Given the description of an element on the screen output the (x, y) to click on. 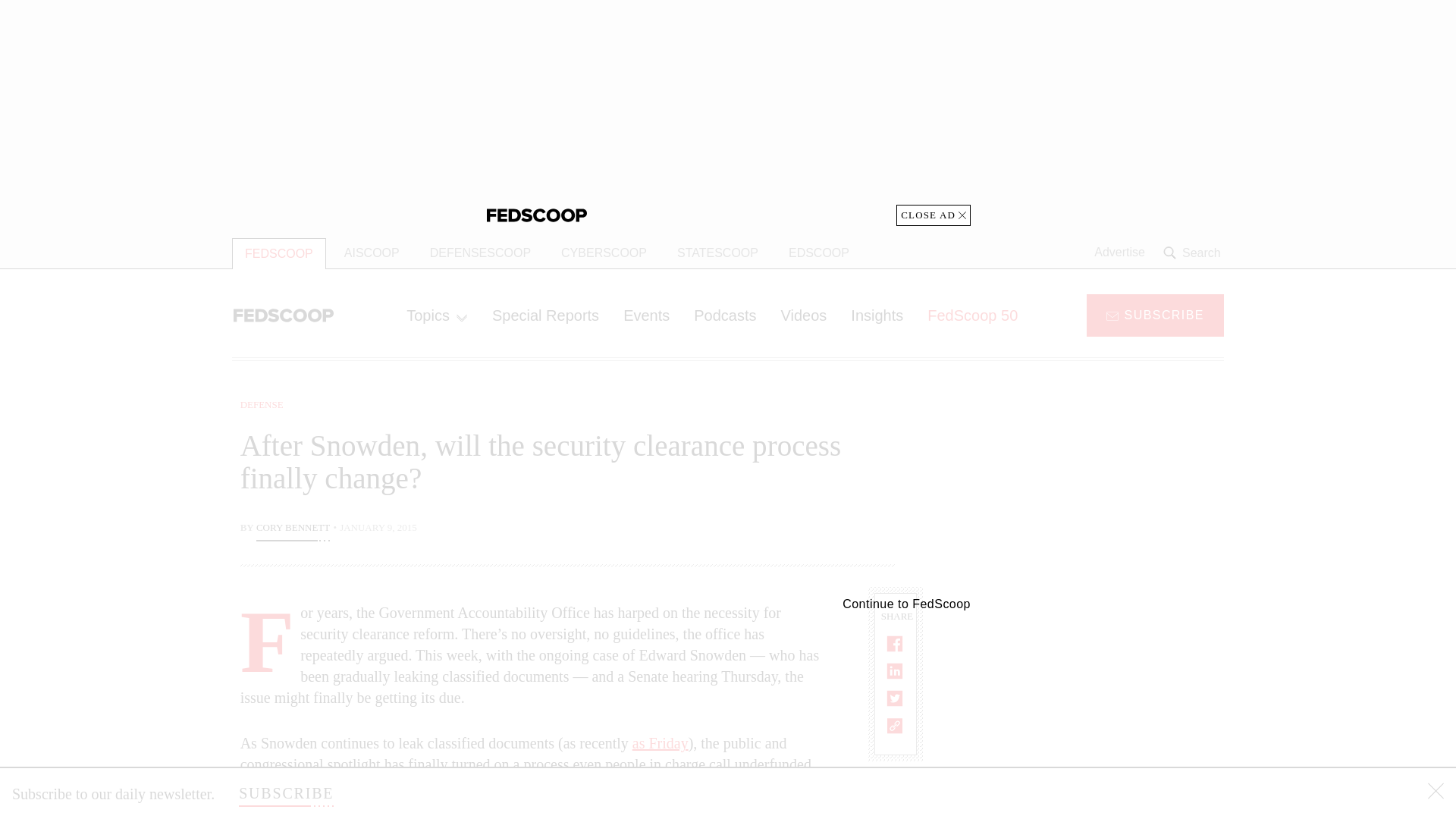
Special Reports (545, 315)
Topics (437, 315)
as Friday (659, 742)
FedScoop 50 (972, 315)
3rd party ad content (1101, 705)
3rd party ad content (1101, 492)
Insights (876, 315)
CORY BENNETT (293, 528)
Podcasts (724, 315)
Events (646, 315)
SUBSCRIBE (1155, 314)
CYBERSCOOP (603, 253)
DEFENSE (261, 404)
